Given the description of an element on the screen output the (x, y) to click on. 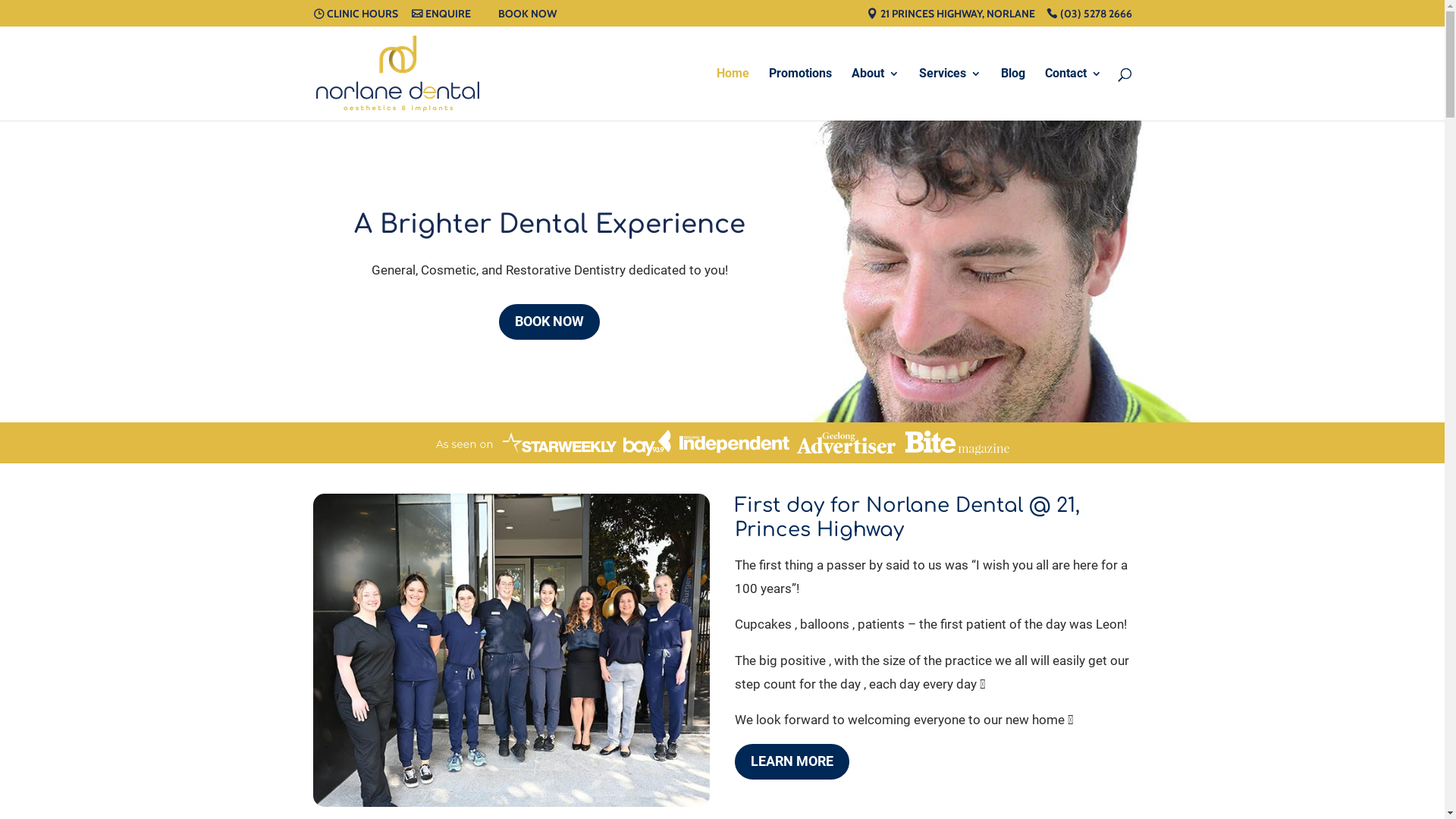
Services Element type: text (950, 94)
(03) 5278 2666 Element type: text (1089, 16)
21 PRINCES HIGHWAY, NORLANE Element type: text (950, 16)
BOOK NOW Element type: text (519, 16)
Home Element type: text (731, 94)
About Element type: text (874, 94)
LEARN MORE Element type: text (791, 761)
Contact Element type: text (1072, 94)
CLINIC HOURS Element type: text (354, 16)
Blog Element type: text (1013, 94)
Promotions Element type: text (799, 94)
BOOK NOW Element type: text (548, 321)
ENQUIRE Element type: text (440, 16)
